Given the description of an element on the screen output the (x, y) to click on. 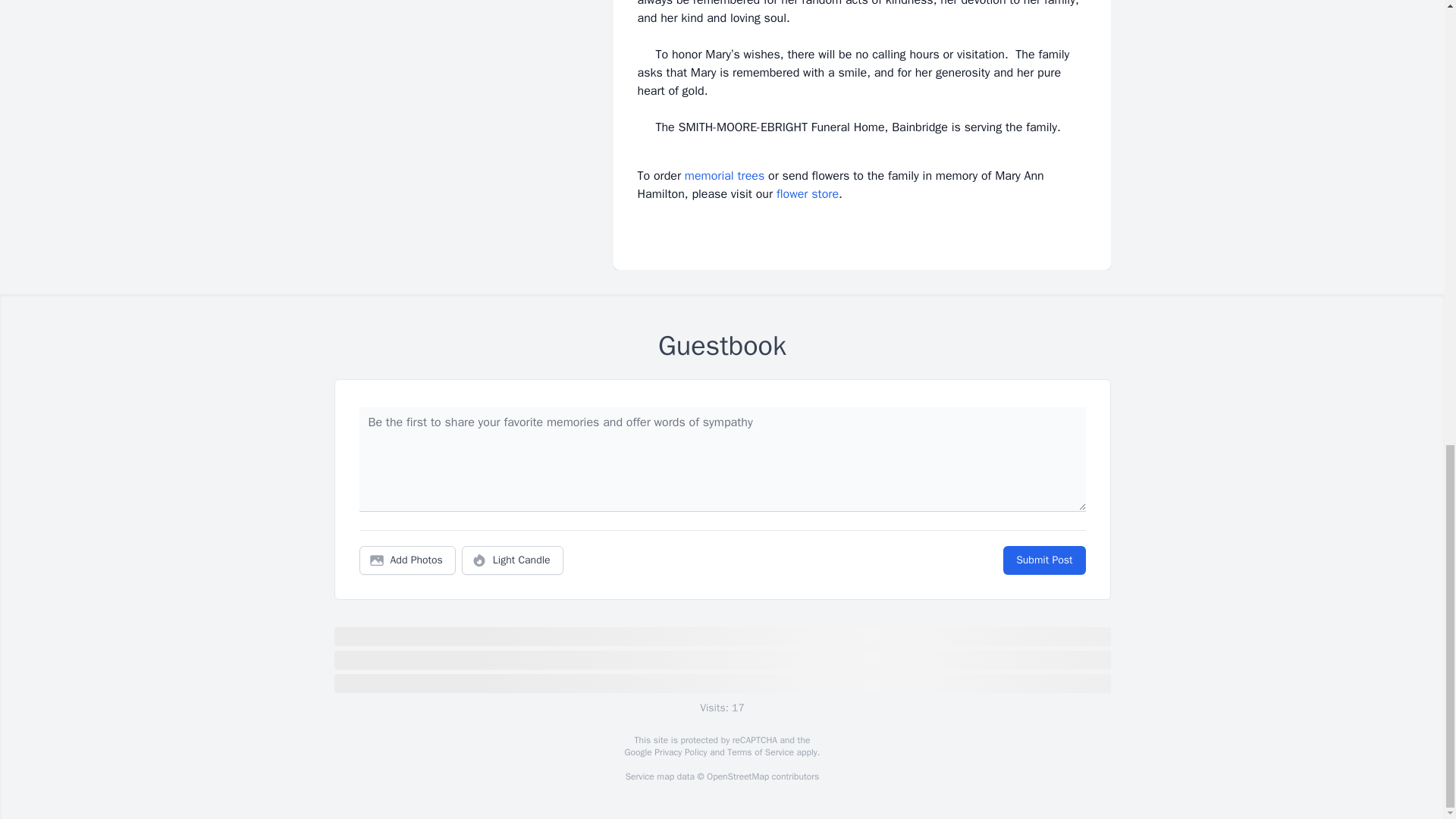
Terms of Service (759, 752)
Add Photos (407, 560)
Privacy Policy (679, 752)
Light Candle (512, 560)
memorial trees (724, 175)
flower store (807, 193)
Submit Post (1043, 560)
OpenStreetMap (737, 776)
